Given the description of an element on the screen output the (x, y) to click on. 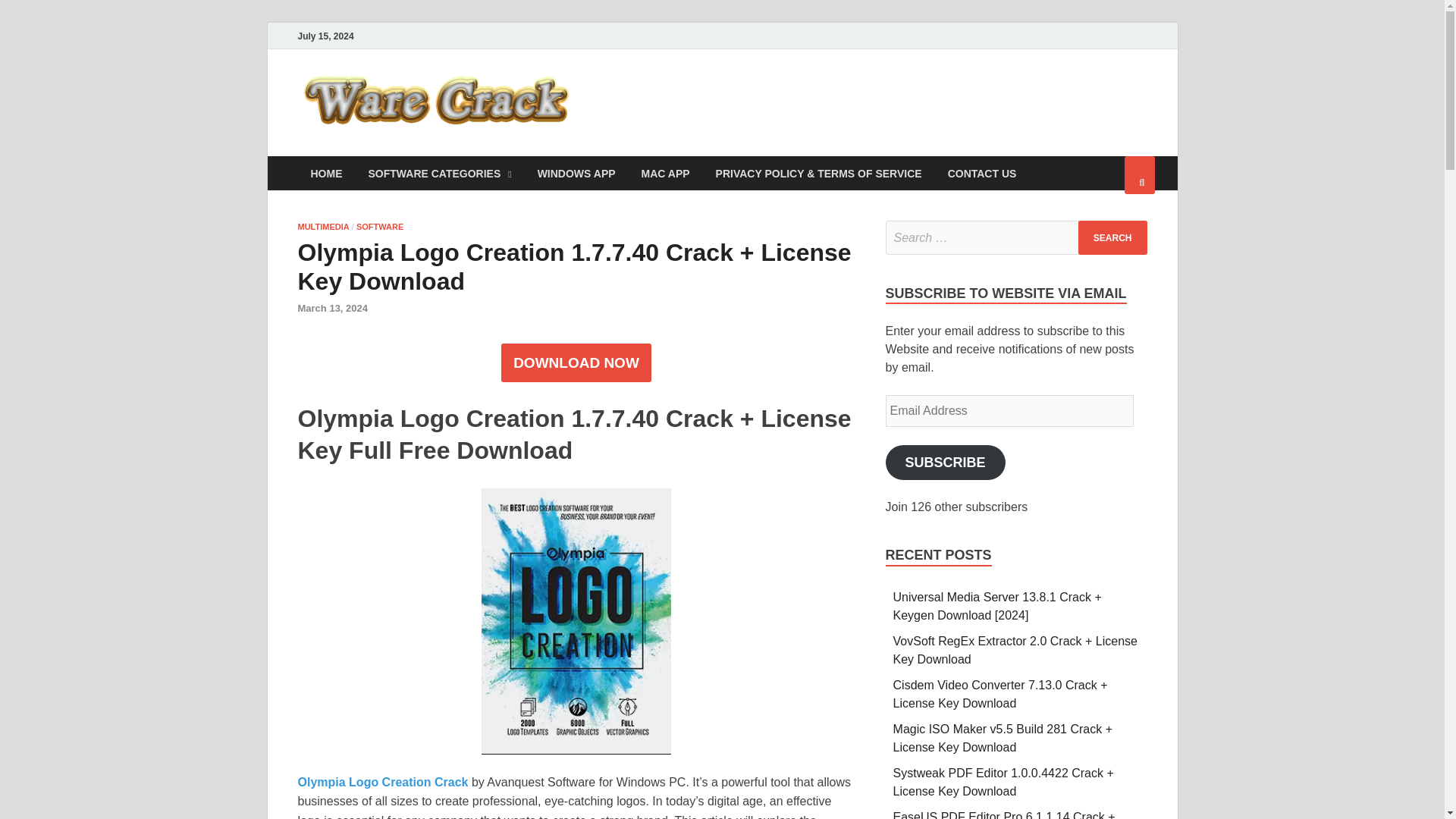
HOME (326, 173)
SOFTWARE CATEGORIES (439, 173)
MAC APP (665, 173)
WINDOWS APP (576, 173)
Search (1112, 237)
CONTACT US (981, 173)
Software Crack (684, 100)
Search (1112, 237)
